Given the description of an element on the screen output the (x, y) to click on. 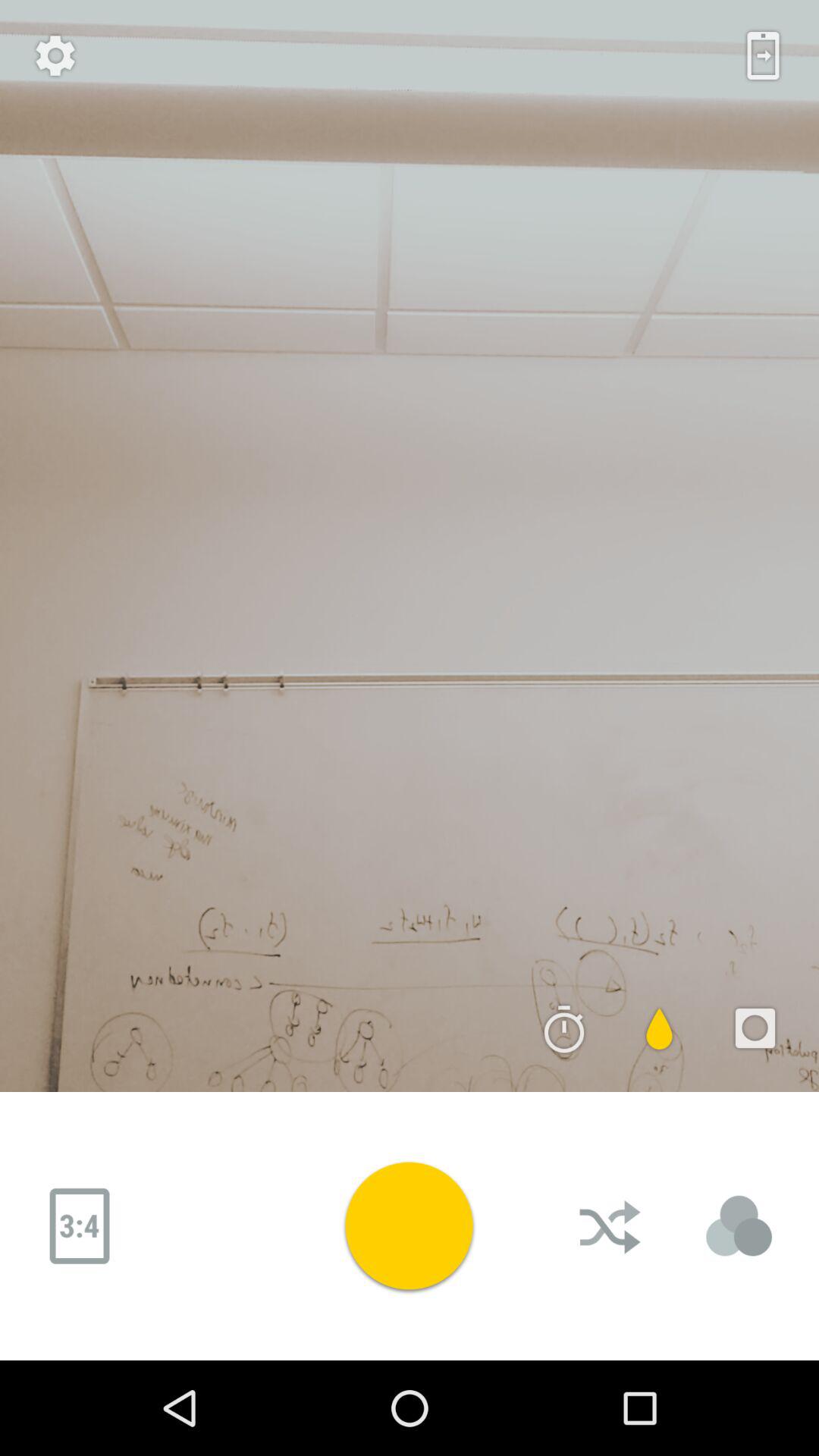
go to clock (563, 1028)
